Given the description of an element on the screen output the (x, y) to click on. 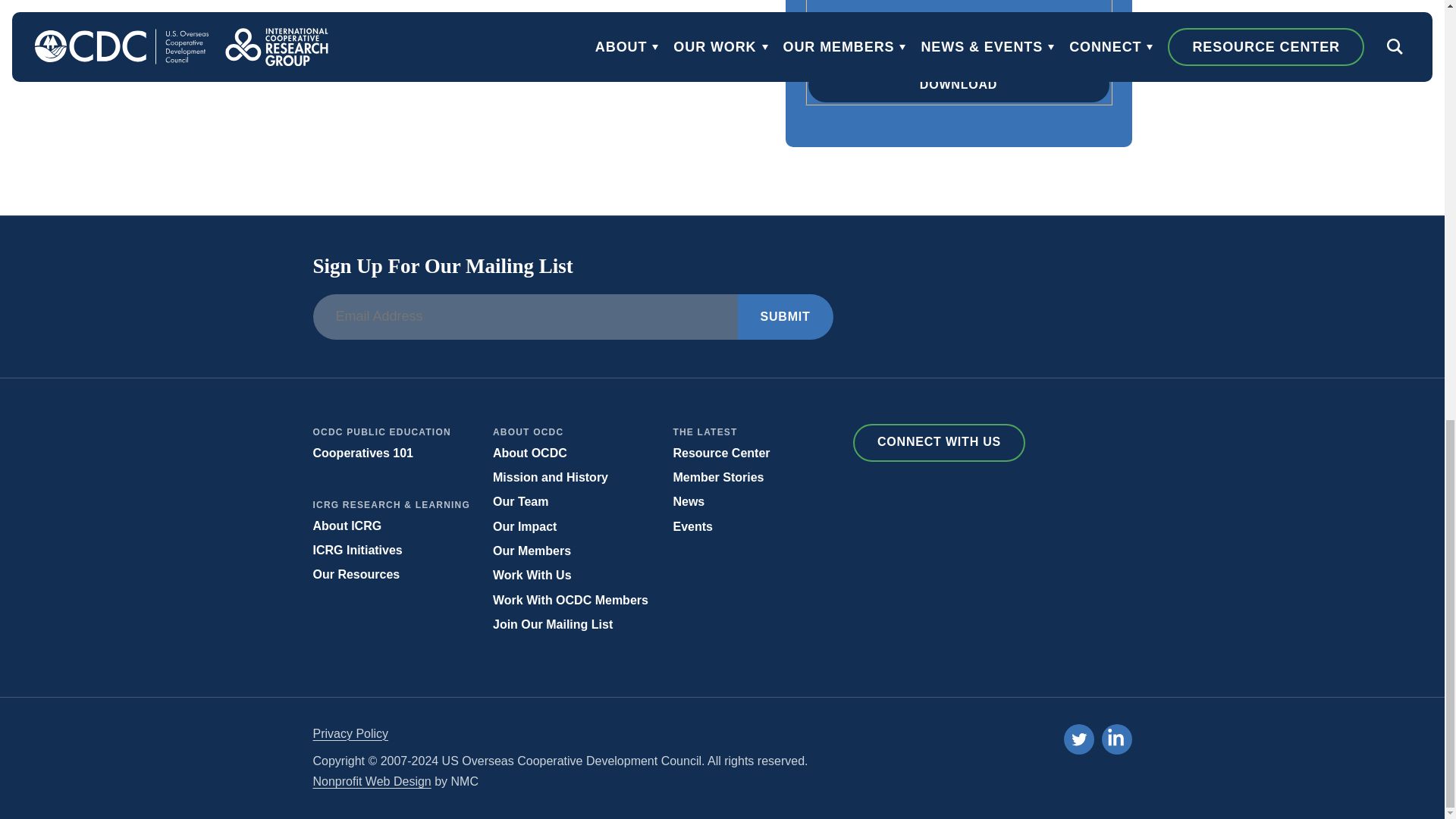
Submit (784, 316)
twitter (1078, 739)
Submit (784, 316)
linkedin (1116, 739)
DOWNLOAD (958, 85)
